Given the description of an element on the screen output the (x, y) to click on. 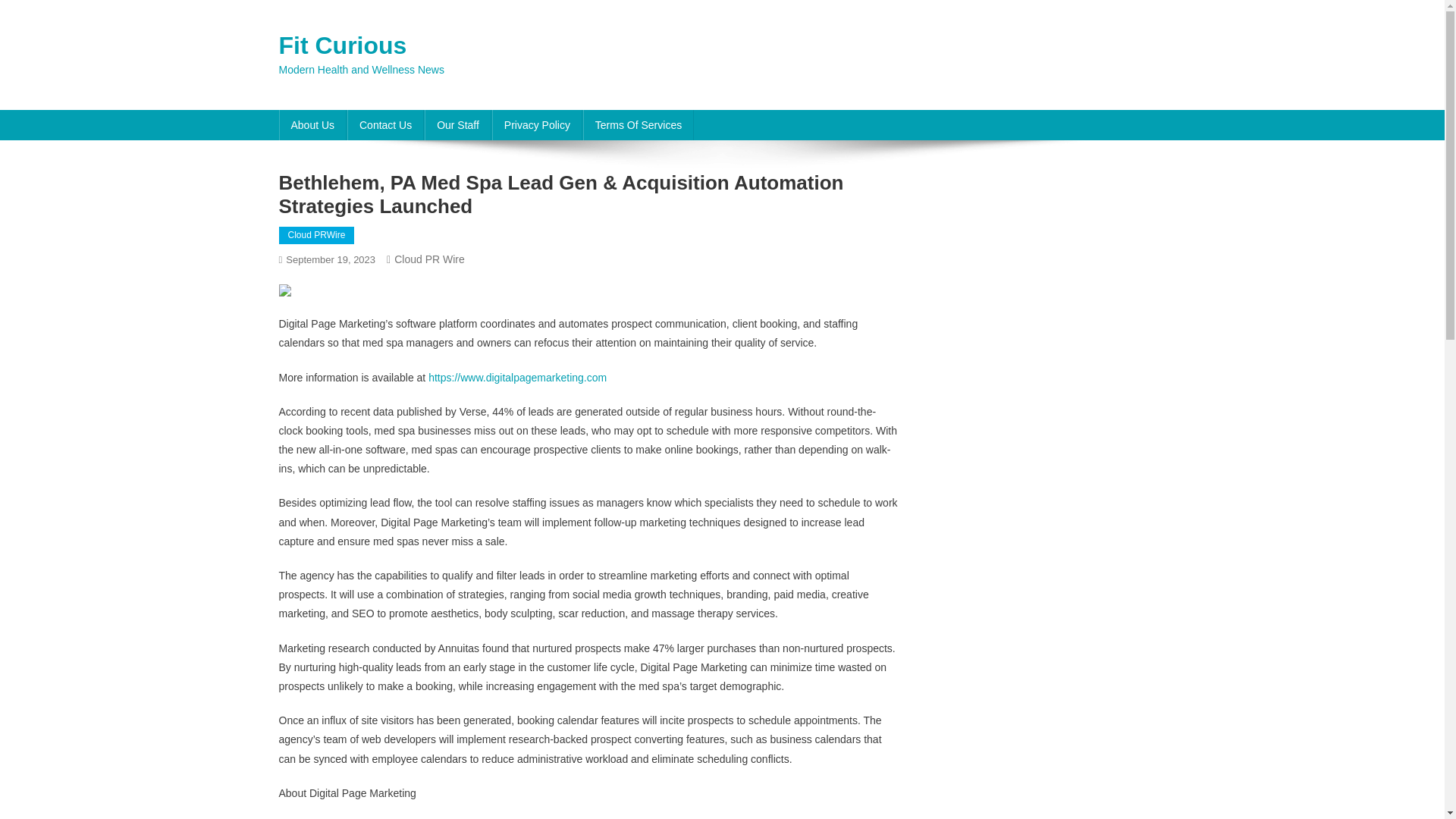
Cloud PRWire (317, 235)
Cloud PR Wire (429, 259)
September 19, 2023 (330, 259)
Privacy Policy (537, 124)
Our Staff (458, 124)
Terms Of Services (638, 124)
Fit Curious (343, 44)
Contact Us (385, 124)
About Us (313, 124)
Search (1133, 135)
